Given the description of an element on the screen output the (x, y) to click on. 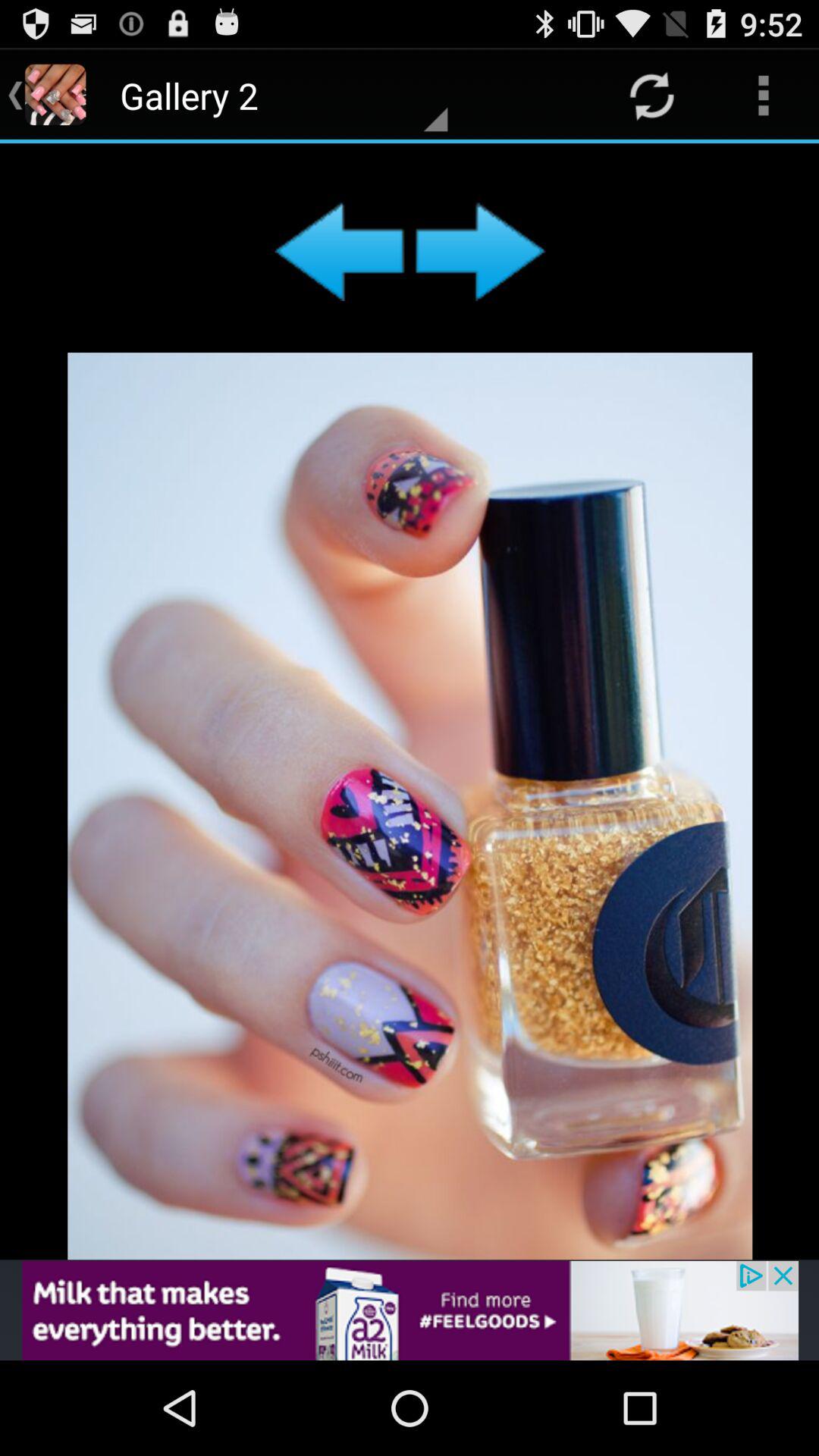
toggle full screen image (409, 701)
